Given the description of an element on the screen output the (x, y) to click on. 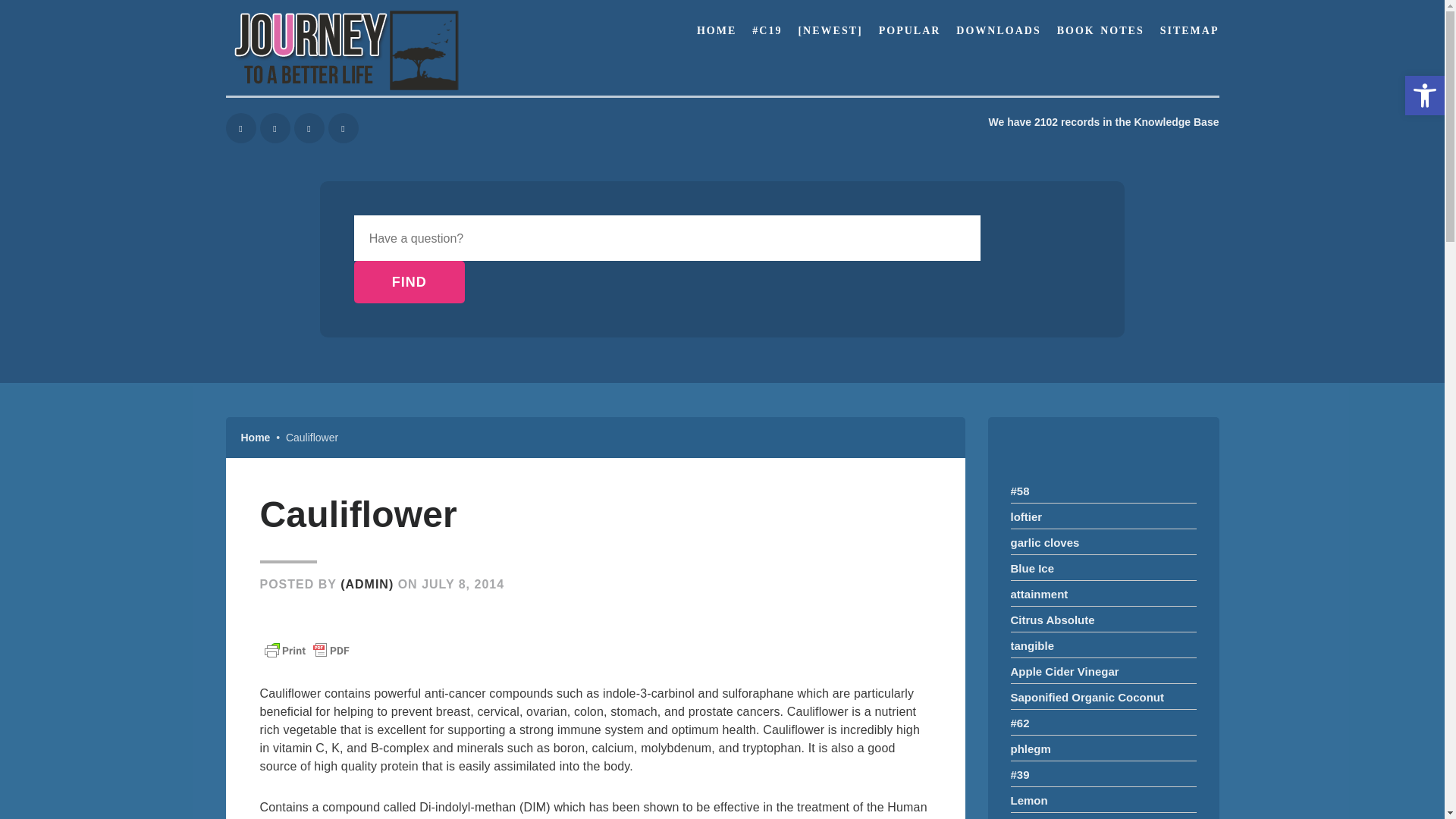
Follow me on Telegram (309, 128)
POPULAR (909, 30)
All Posts (830, 30)
Follow me on Facebook (408, 282)
Follow us on Pinterest (274, 128)
loftier (240, 128)
COVID INDEX (1026, 516)
Home (767, 30)
garlic cloves (255, 437)
